Given the description of an element on the screen output the (x, y) to click on. 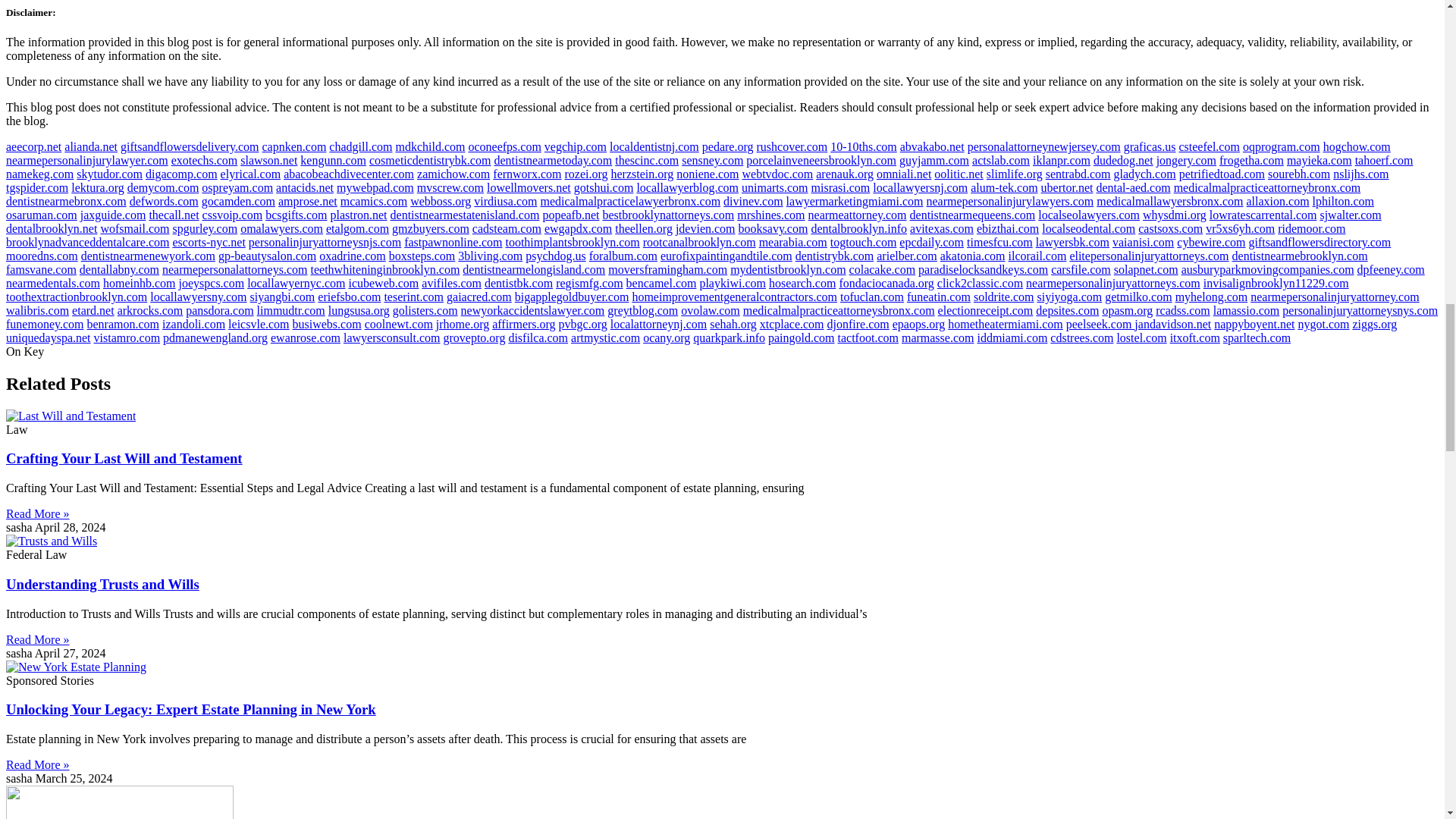
oqprogram.com (1281, 146)
vegchip.com (575, 146)
alianda.net (90, 146)
mdkchild.com (429, 146)
pedare.org (727, 146)
nearmepersonalinjurylawyer.com (86, 160)
oconeefps.com (503, 146)
exotechs.com (204, 160)
localdentistnj.com (654, 146)
hogchow.com (1356, 146)
graficas.us (1150, 146)
csteefel.com (1208, 146)
kengunn.com (332, 160)
capnken.com (294, 146)
dentistnearmetoday.com (552, 160)
